Given the description of an element on the screen output the (x, y) to click on. 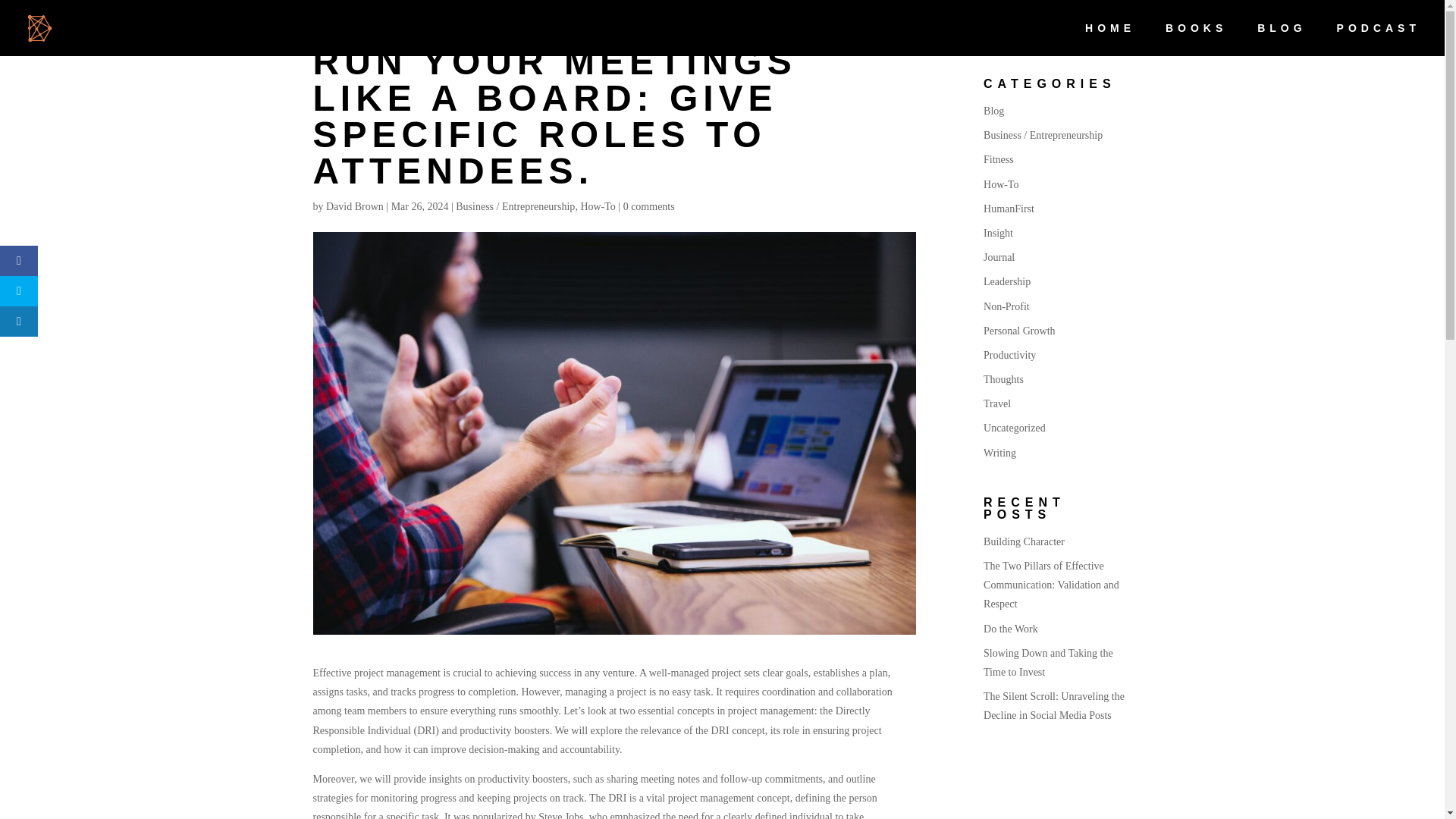
Journal (999, 256)
Non-Profit (1006, 306)
Slowing Down and Taking the Time to Invest (1048, 662)
How-To (1000, 184)
Do the Work (1011, 628)
Blog (994, 111)
0 comments (649, 206)
David Brown (355, 206)
BOOKS (1196, 39)
Uncategorized (1014, 428)
Thoughts (1003, 378)
Personal Growth (1019, 330)
Leadership (1007, 281)
Building Character (1024, 541)
